Given the description of an element on the screen output the (x, y) to click on. 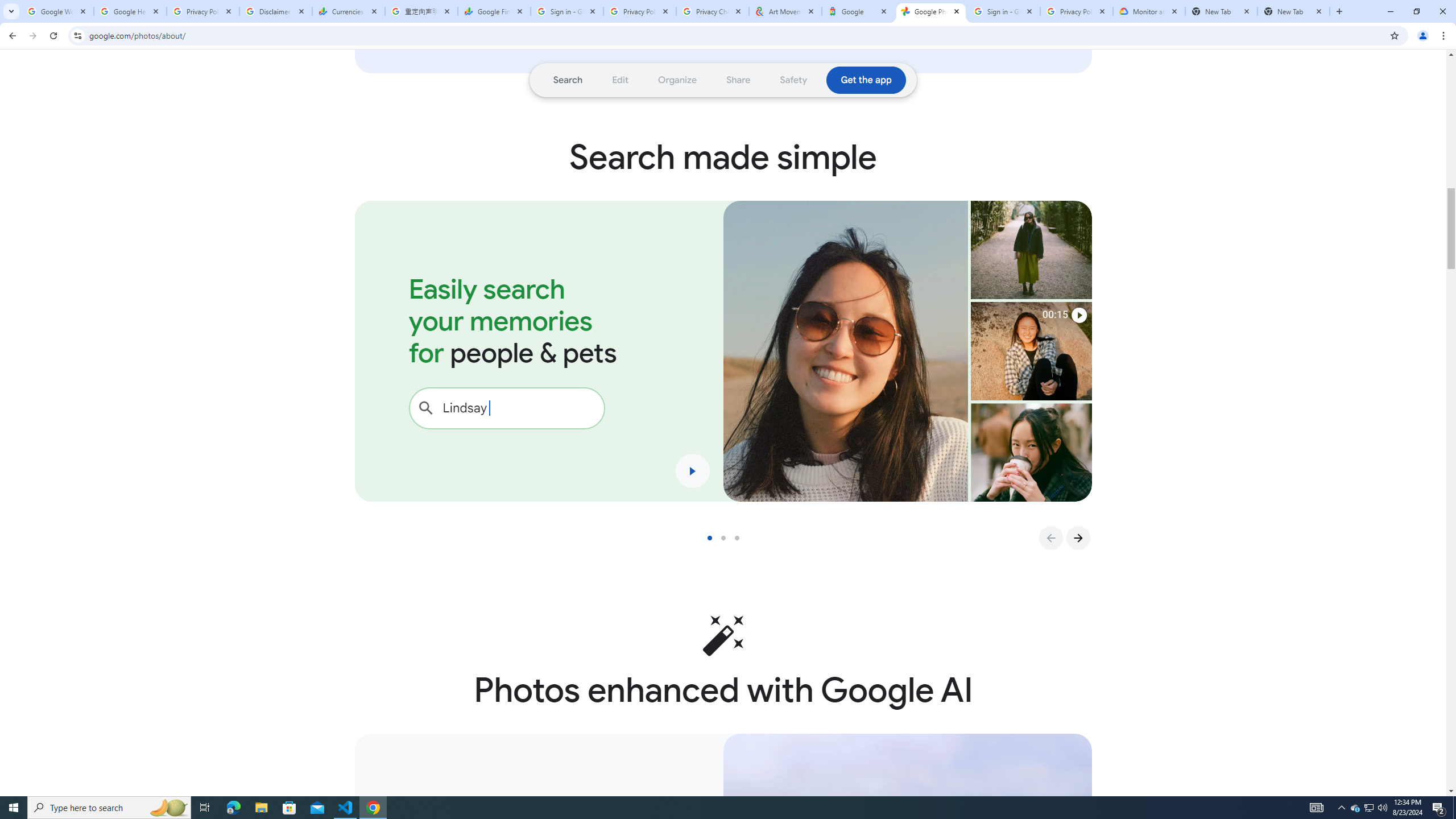
Go to slide 2 (727, 537)
